Given the description of an element on the screen output the (x, y) to click on. 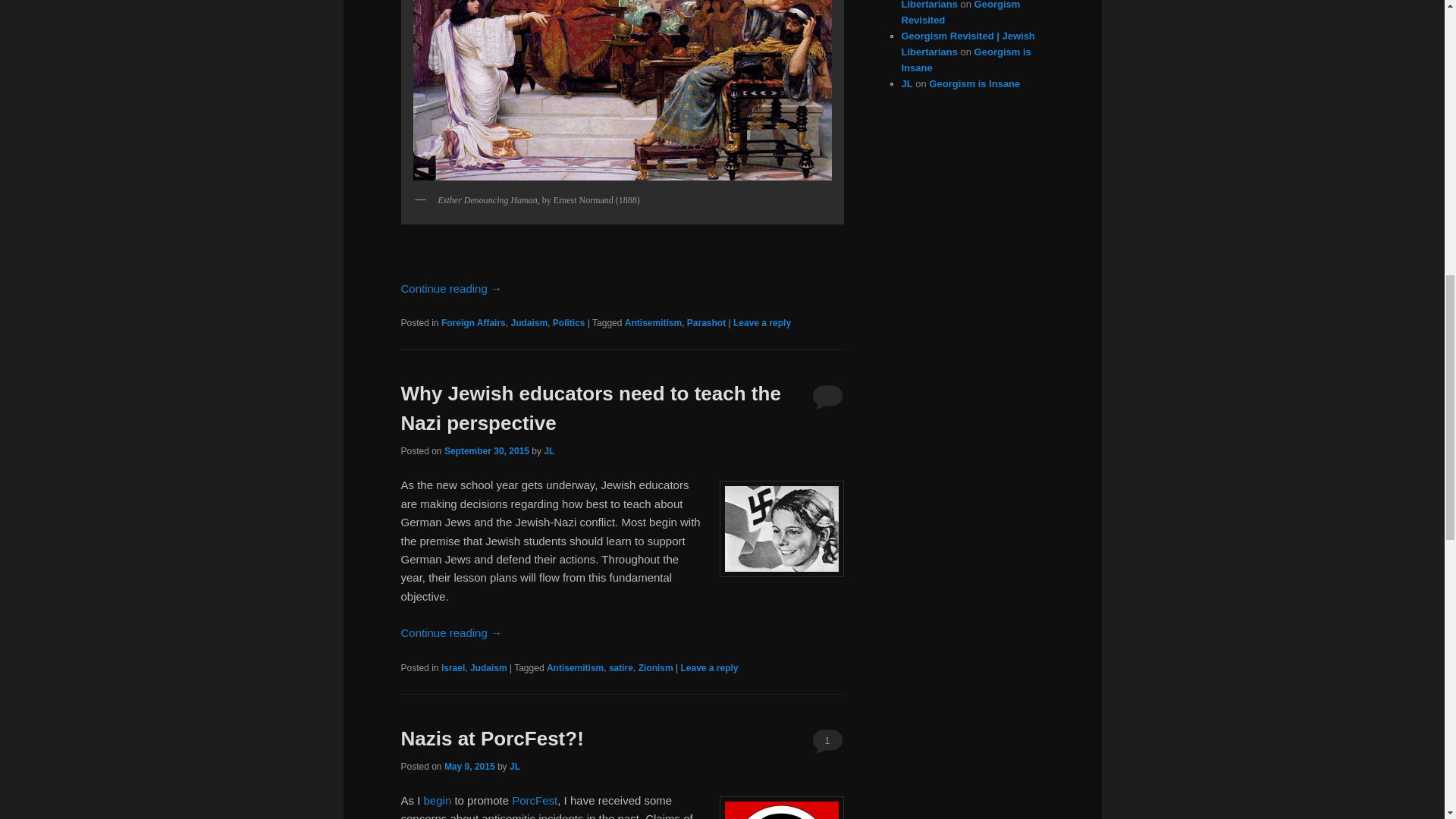
Judaism (529, 322)
Politics (569, 322)
Antisemitism (652, 322)
1:16 pm (486, 450)
Parashot (706, 322)
Judaism (488, 667)
September 30, 2015 (486, 450)
Leave a reply (708, 667)
JL (514, 766)
Israel (452, 667)
